Given the description of an element on the screen output the (x, y) to click on. 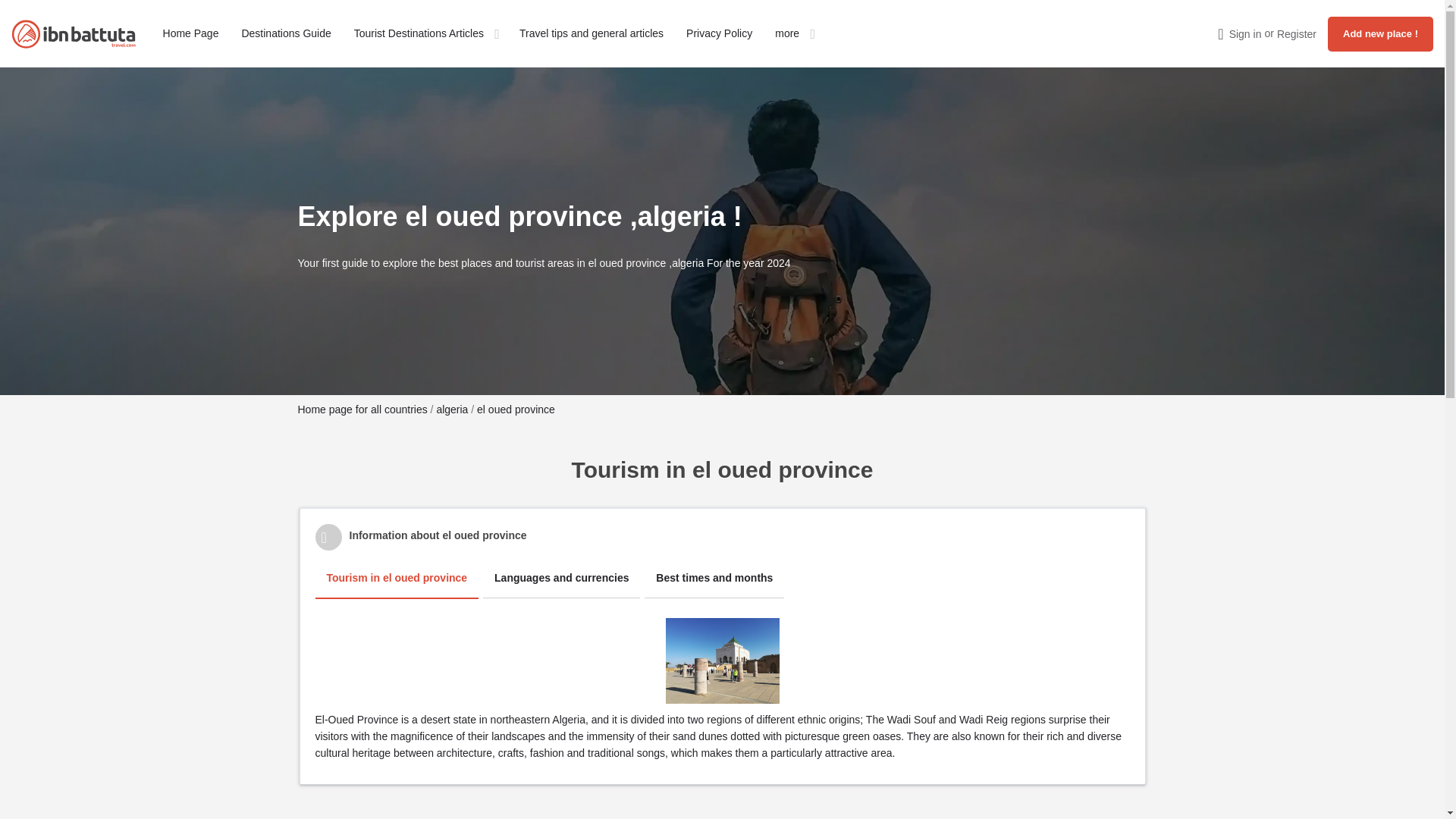
more (786, 32)
Destinations Guide (285, 32)
Tourist Destinations Articles (418, 32)
Home page for all countries (361, 409)
Home Page (191, 32)
Travel tips and general articles (591, 32)
algeria (452, 409)
el oued province (515, 409)
Sign in (1245, 33)
Tourism in el oued province (397, 577)
